Given the description of an element on the screen output the (x, y) to click on. 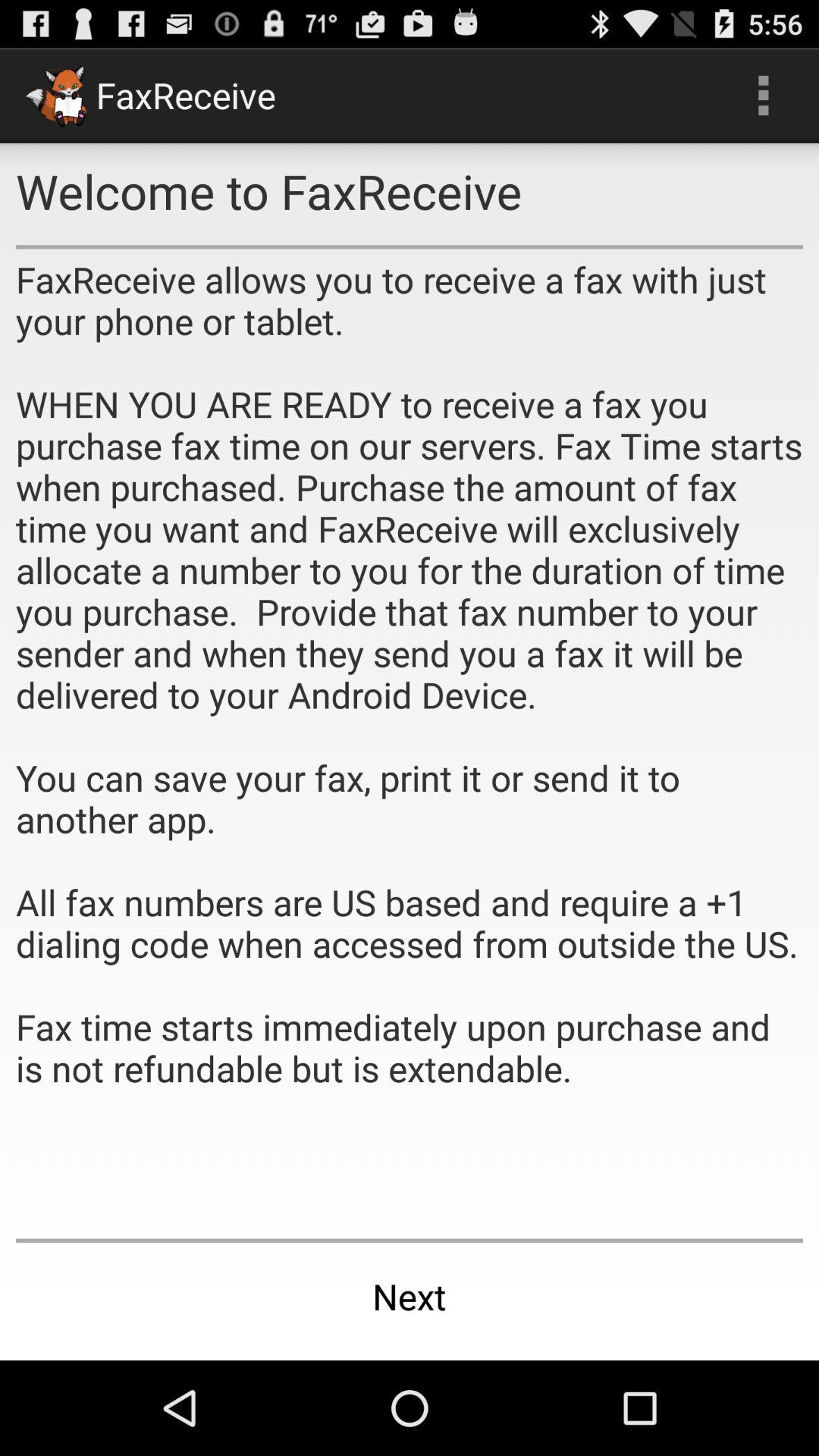
press the item at the top right corner (763, 95)
